Given the description of an element on the screen output the (x, y) to click on. 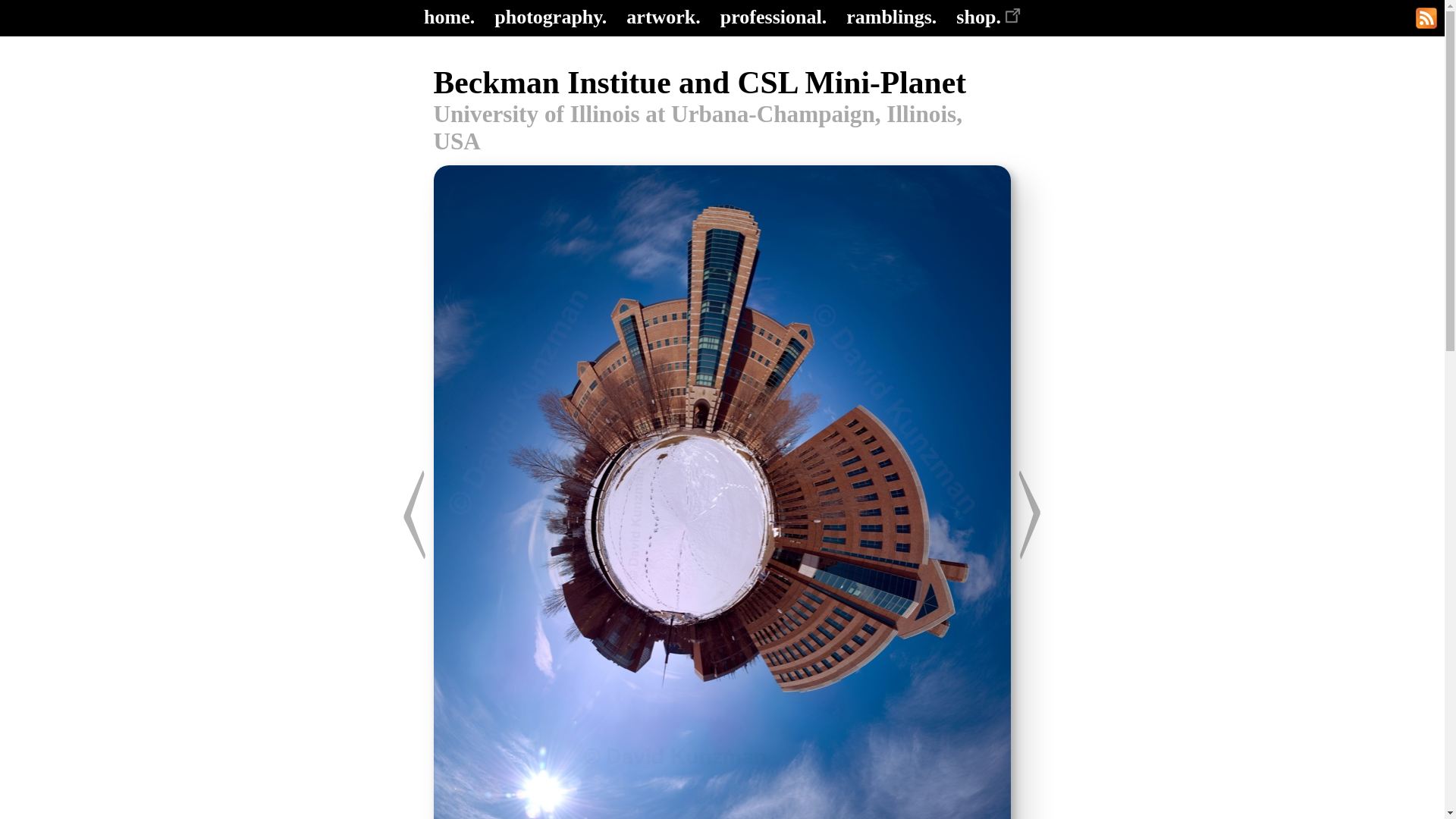
home. (448, 16)
artwork. (663, 16)
photography. (551, 16)
professional. (773, 16)
shop. (988, 16)
ramblings. (890, 16)
